Given the description of an element on the screen output the (x, y) to click on. 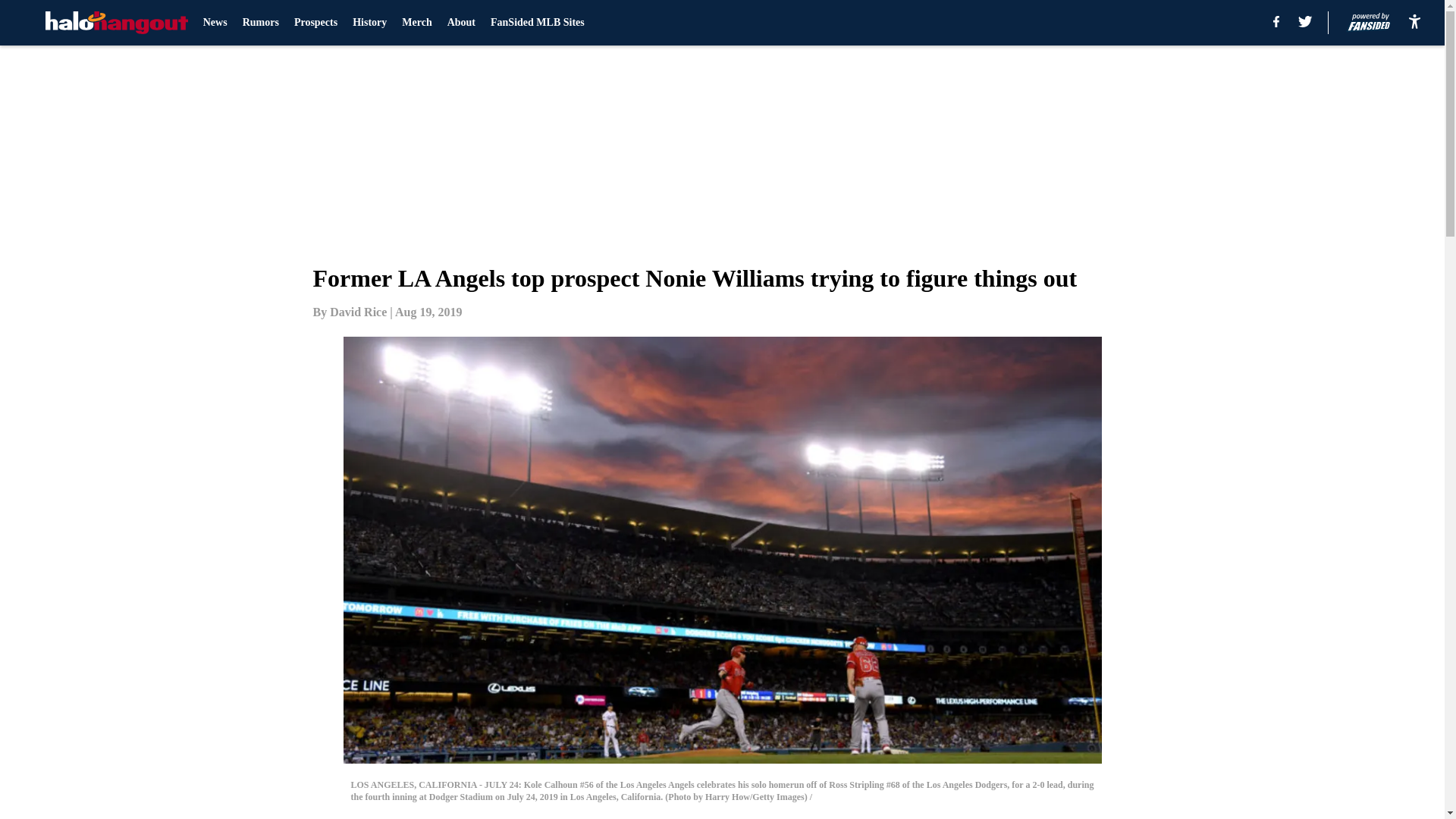
About (461, 22)
History (369, 22)
News (215, 22)
Prospects (315, 22)
Merch (415, 22)
Rumors (261, 22)
FanSided MLB Sites (537, 22)
